Given the description of an element on the screen output the (x, y) to click on. 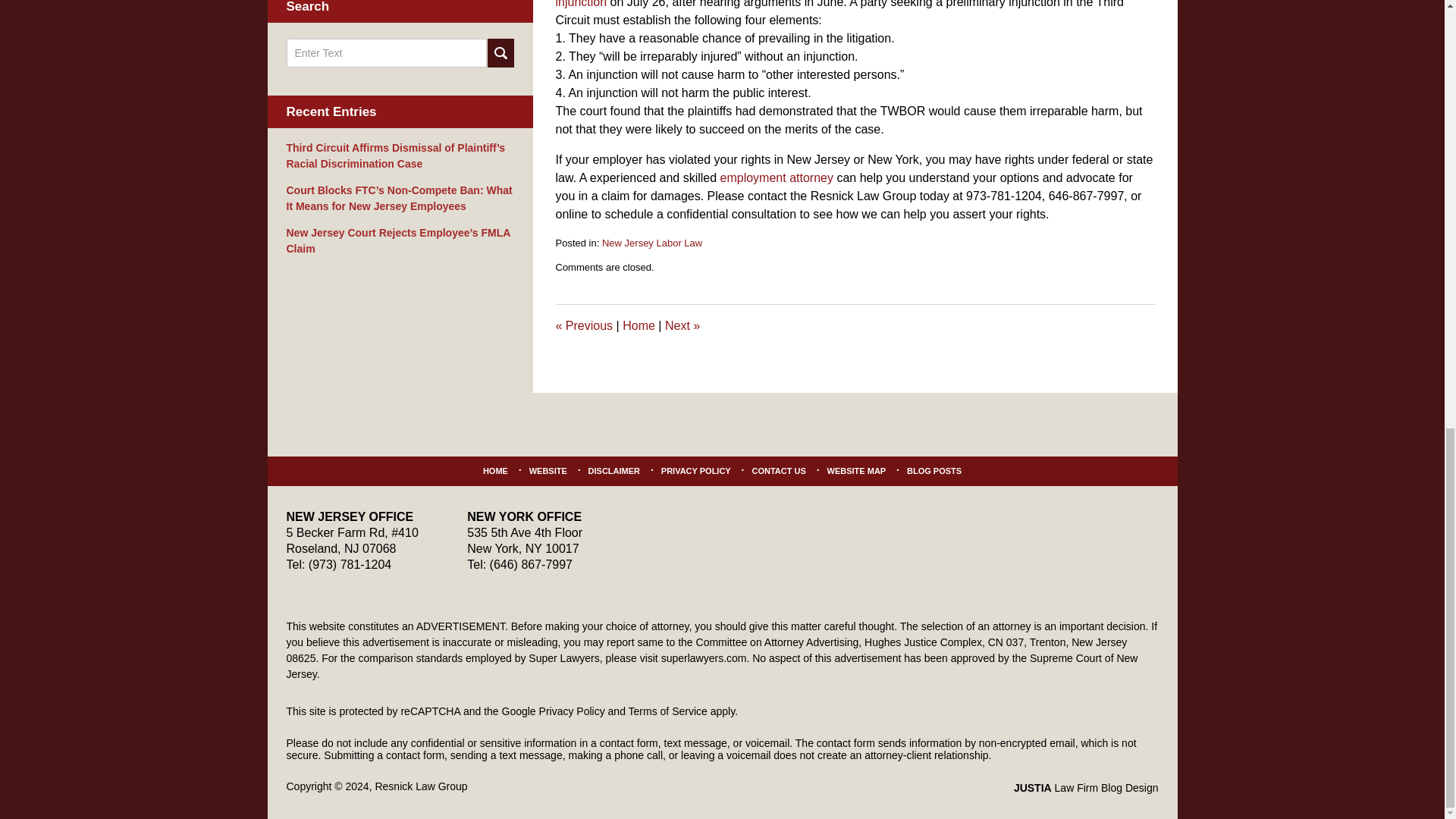
Home (639, 325)
preliminary injunction (842, 4)
New Jersey Labor Law (651, 242)
View all posts in New Jersey Labor Law (651, 242)
Rule 65. Injunctions and Restraining Orders (842, 4)
employment attorney (776, 177)
